Given the description of an element on the screen output the (x, y) to click on. 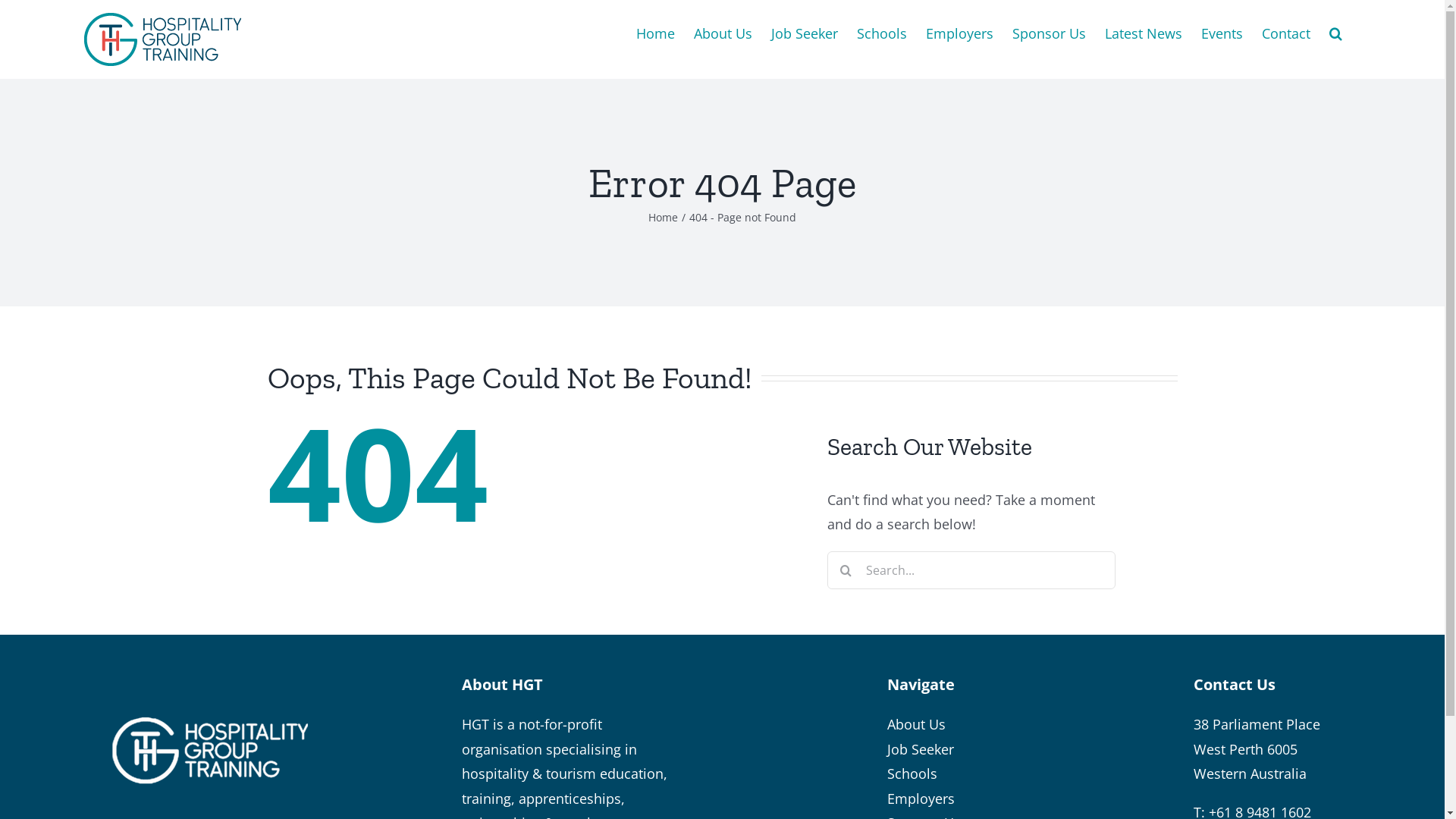
Job Seeker Element type: text (920, 749)
Job Seeker Element type: text (804, 31)
Events Element type: text (1221, 31)
Home Element type: text (662, 217)
Schools Element type: text (912, 773)
Contact Element type: text (1285, 31)
About Us Element type: text (722, 31)
Employers Element type: text (920, 798)
About Us Element type: text (916, 724)
Schools Element type: text (881, 31)
Search Element type: hover (1335, 31)
Employers Element type: text (959, 31)
Home Element type: text (655, 31)
Latest News Element type: text (1143, 31)
Sponsor Us Element type: text (1048, 31)
